Given the description of an element on the screen output the (x, y) to click on. 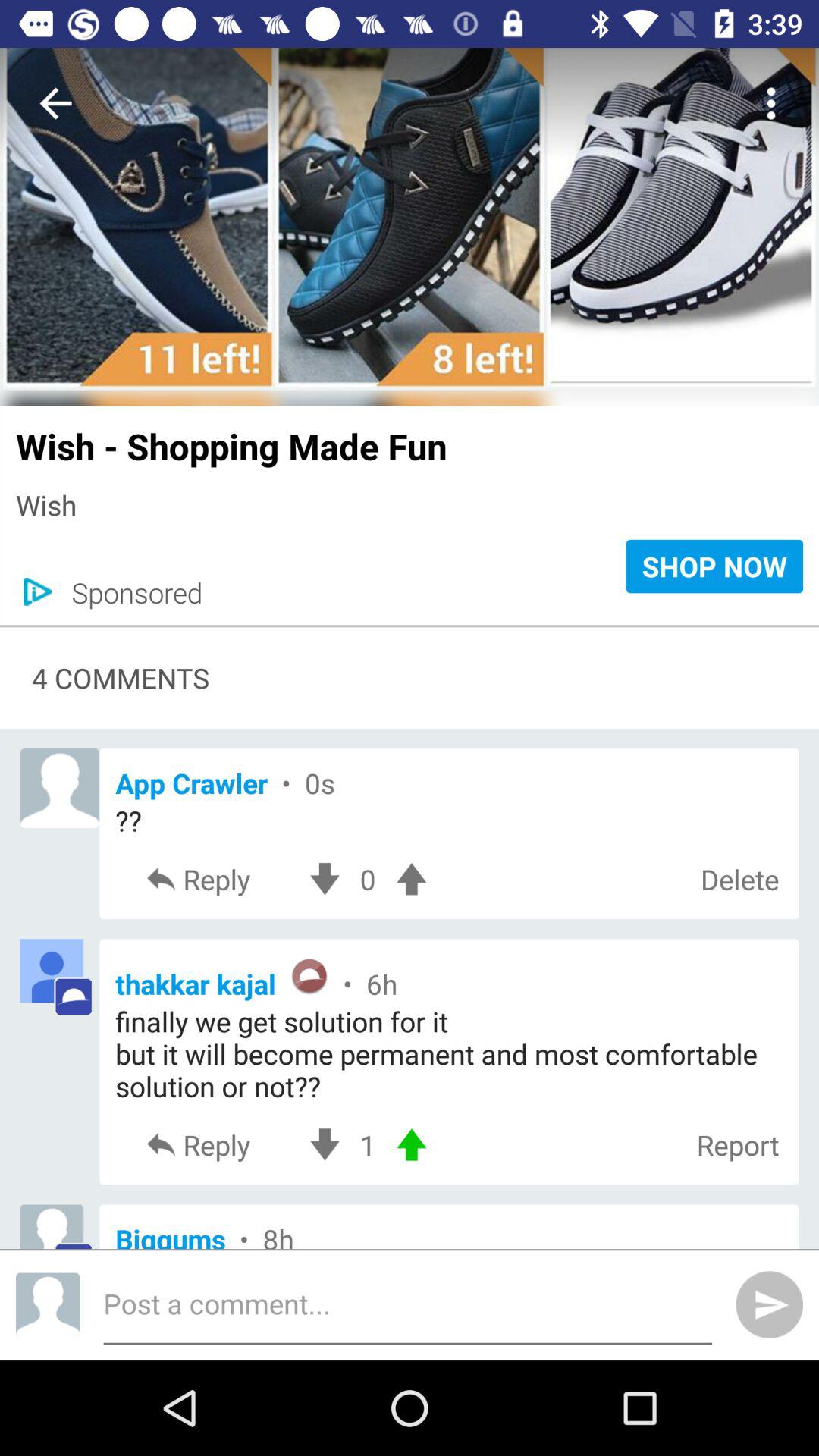
choose item below the reply (449, 978)
